Given the description of an element on the screen output the (x, y) to click on. 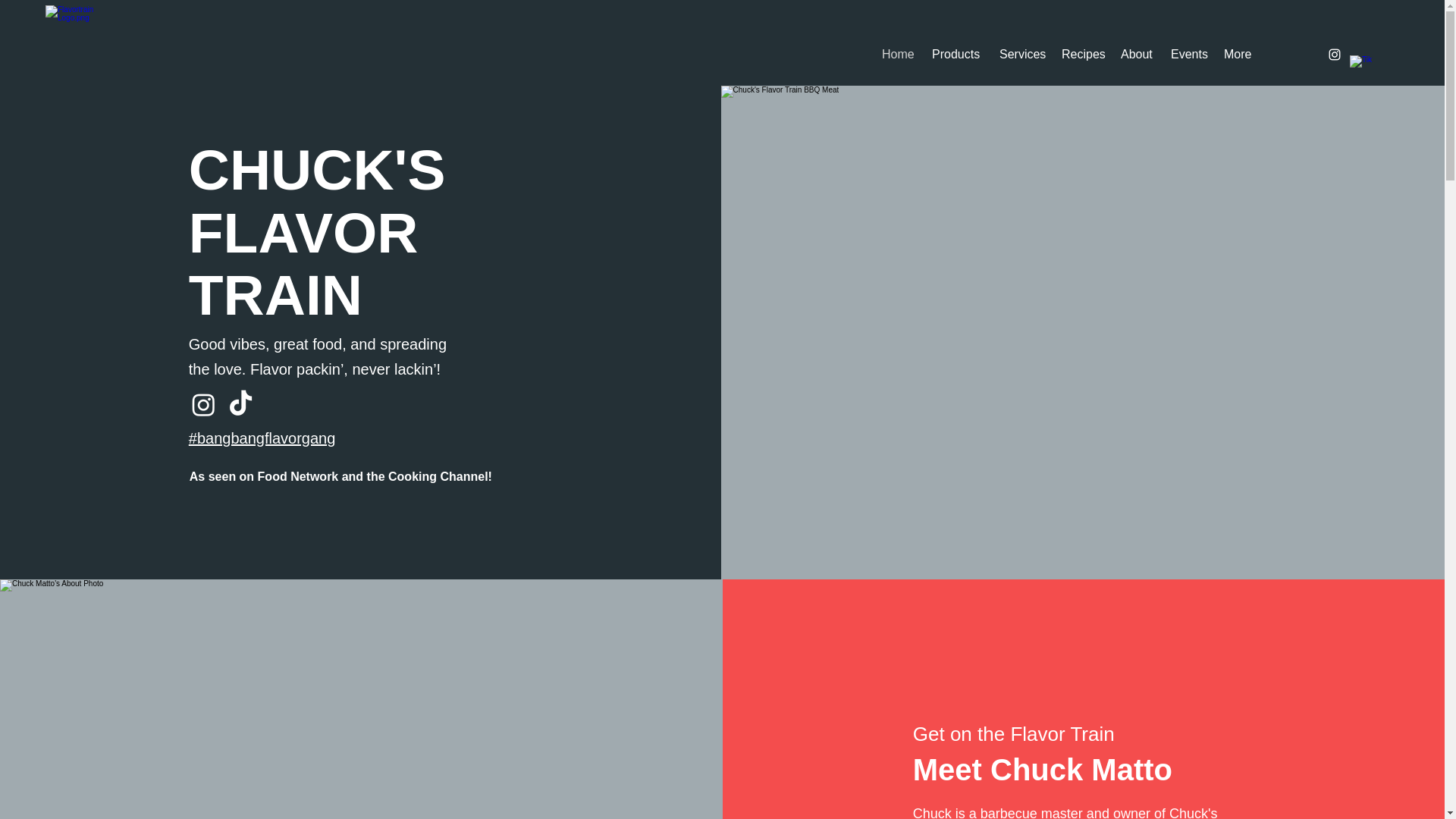
About (1138, 54)
Recipes (1083, 54)
Events (1189, 54)
Products (957, 54)
Home (899, 54)
Services (1022, 54)
